Given the description of an element on the screen output the (x, y) to click on. 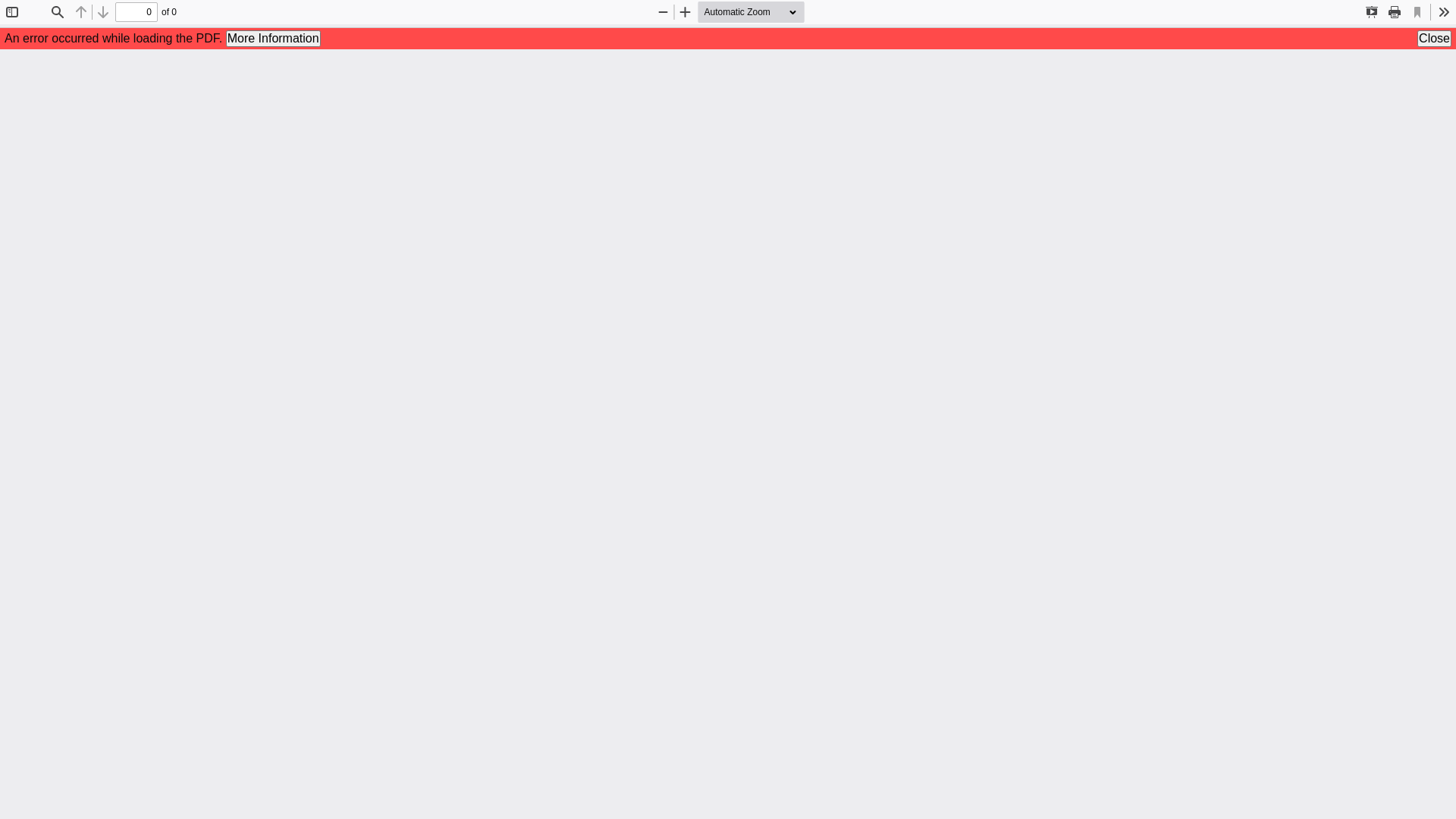
Switch to Presentation Mode Element type: hover (1371, 11)
Zoom In Element type: hover (685, 11)
Toggle Sidebar Element type: hover (11, 11)
Current view (copy or open in new window) Element type: hover (1416, 11)
More Information Element type: text (272, 38)
Previous Page Element type: hover (80, 11)
Close Element type: text (1434, 38)
Print Element type: hover (1394, 11)
Tools Element type: hover (1443, 11)
Zoom Out Element type: hover (662, 11)
Next Page Element type: hover (102, 11)
Page Element type: hover (136, 11)
Find in Document Element type: hover (57, 11)
